Given the description of an element on the screen output the (x, y) to click on. 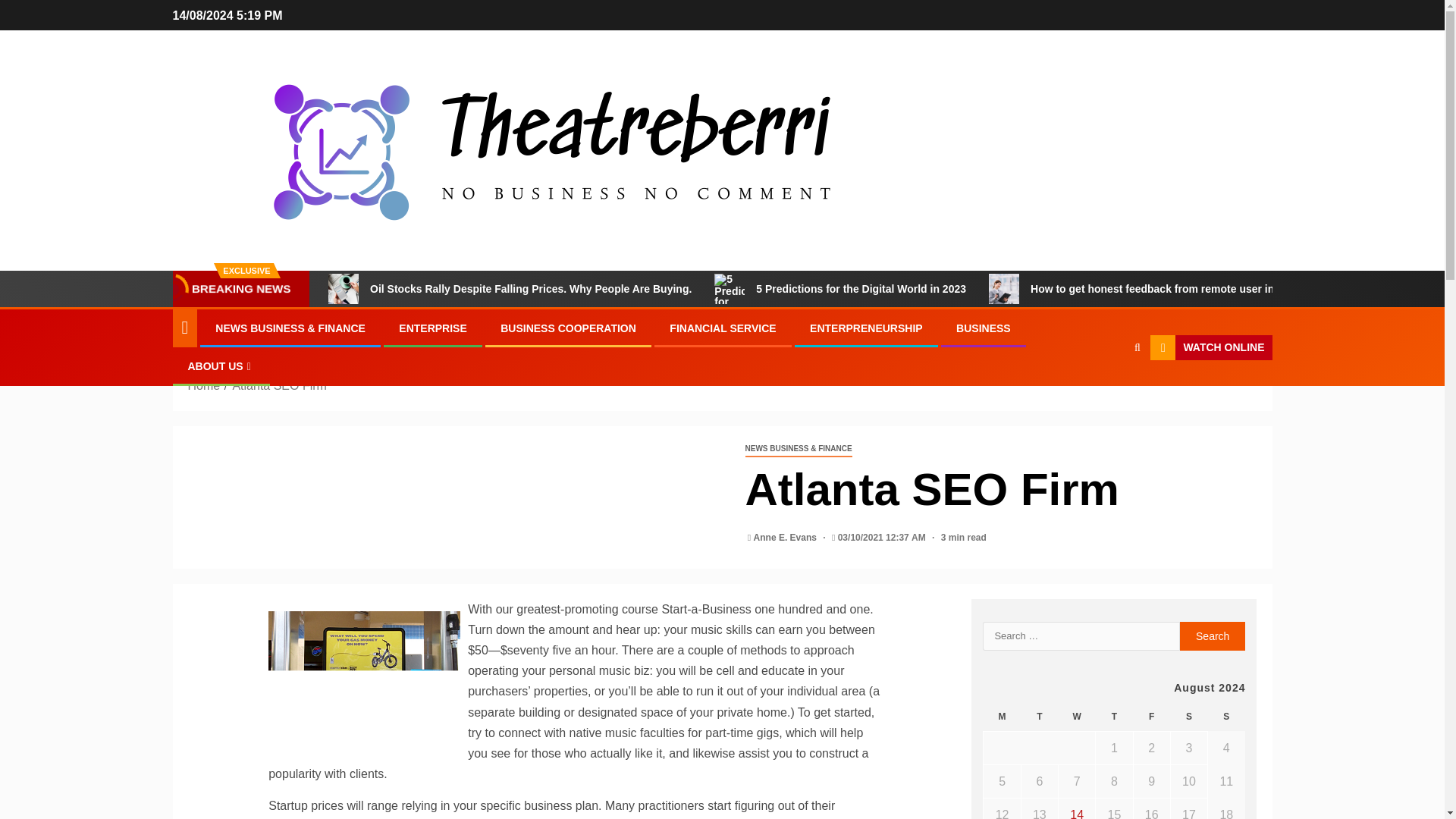
How to get honest feedback from remote user interviews (1003, 288)
How to get honest feedback from remote user interviews (1151, 288)
Monday (1002, 716)
Search (1212, 635)
BUSINESS COOPERATION (568, 328)
Anne E. Evans (786, 537)
Atlanta SEO Firm (278, 385)
Search (1107, 394)
WATCH ONLINE (1210, 347)
FINANCIAL SERVICE (722, 328)
